Given the description of an element on the screen output the (x, y) to click on. 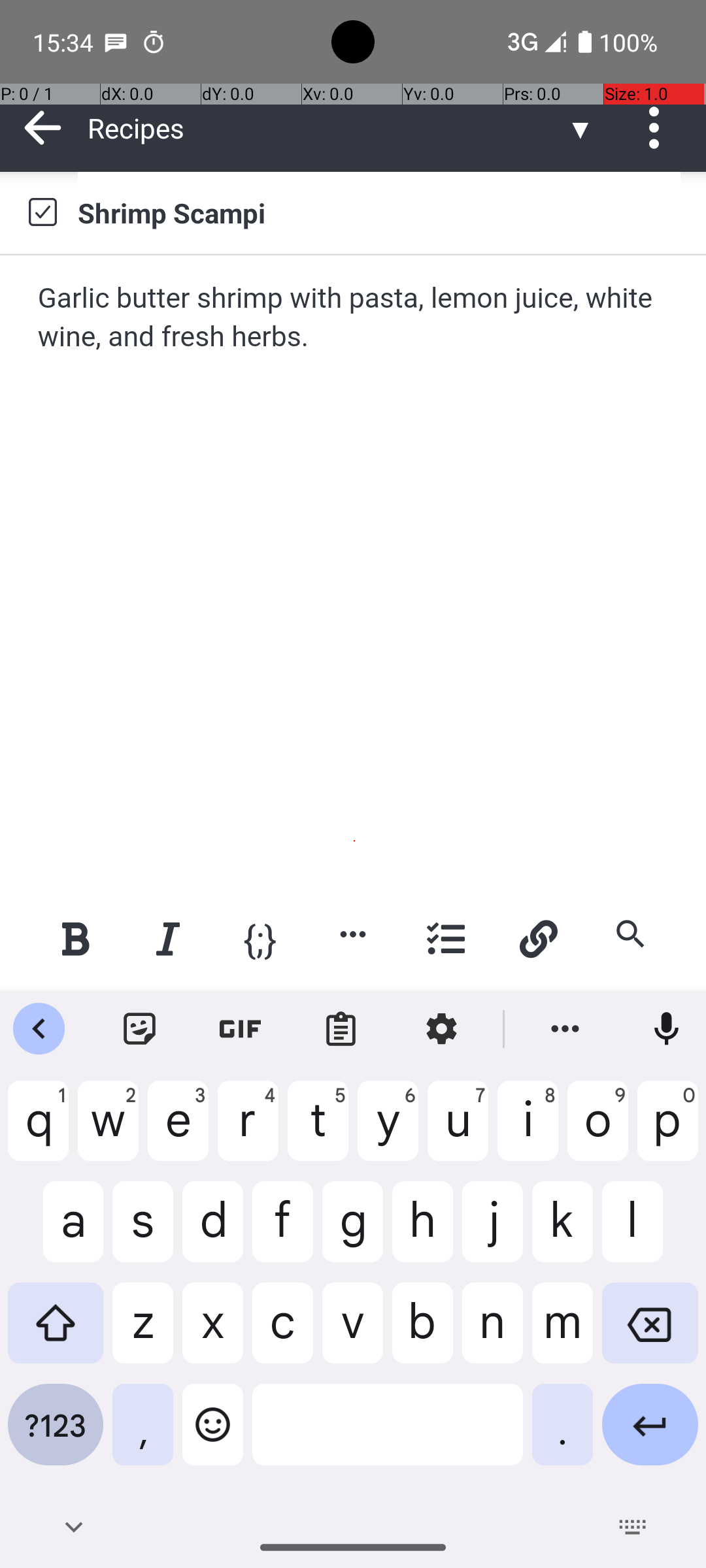
Shrimp Scampi Element type: android.widget.EditText (378, 212)
Garlic butter shrimp with pasta, lemon juice, white wine, and fresh herbs. Element type: android.widget.EditText (354, 317)
